Given the description of an element on the screen output the (x, y) to click on. 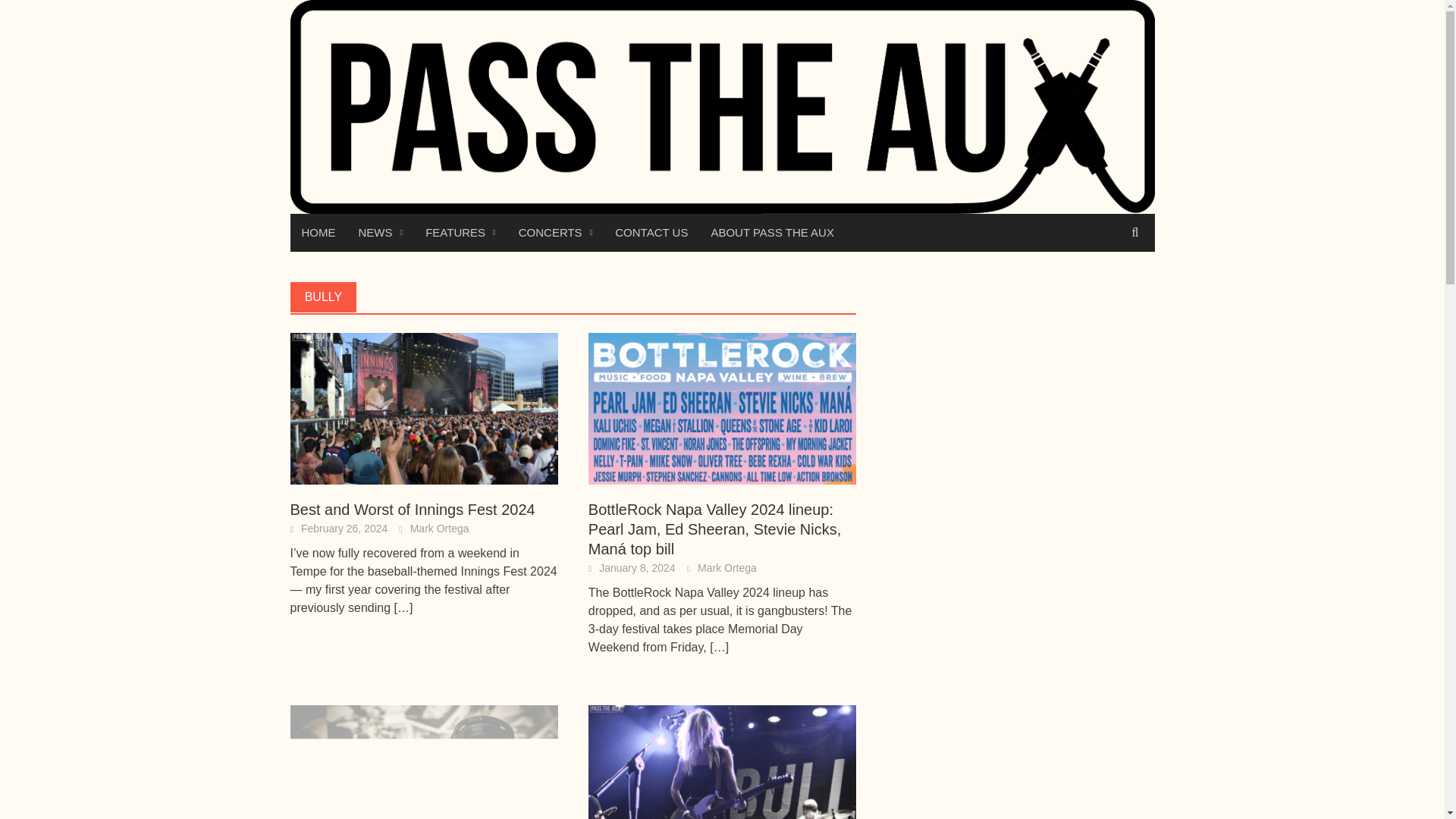
February 26, 2024 (344, 528)
Best and Worst of Innings Fest 2024 (411, 509)
NEWS (380, 232)
CONTACT US (651, 232)
FEATURES (459, 232)
January 8, 2024 (636, 567)
ABOUT PASS THE AUX (771, 232)
Bully sounds immaculate at Teragram Ballroom (722, 780)
Best and Worst of Innings Fest 2024 (423, 407)
CONCERTS (555, 232)
Mark Ortega (439, 528)
HOME (317, 232)
Mark Ortega (727, 567)
